Given the description of an element on the screen output the (x, y) to click on. 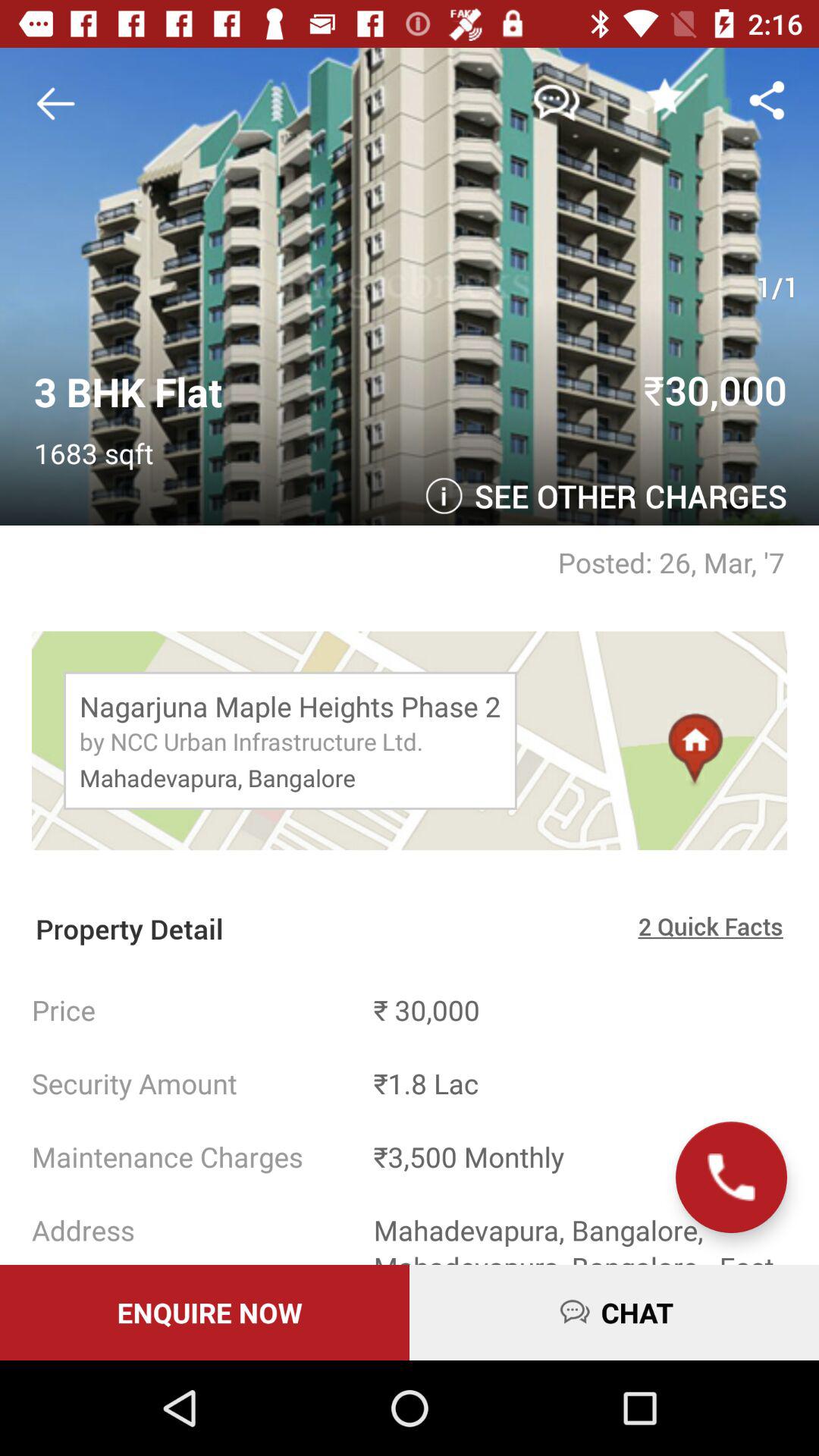
click on the star icon beside the share icon (664, 96)
click on the text on the right bottom at the picture (622, 499)
click on the left arrow option on the top left corner (60, 103)
